Given the description of an element on the screen output the (x, y) to click on. 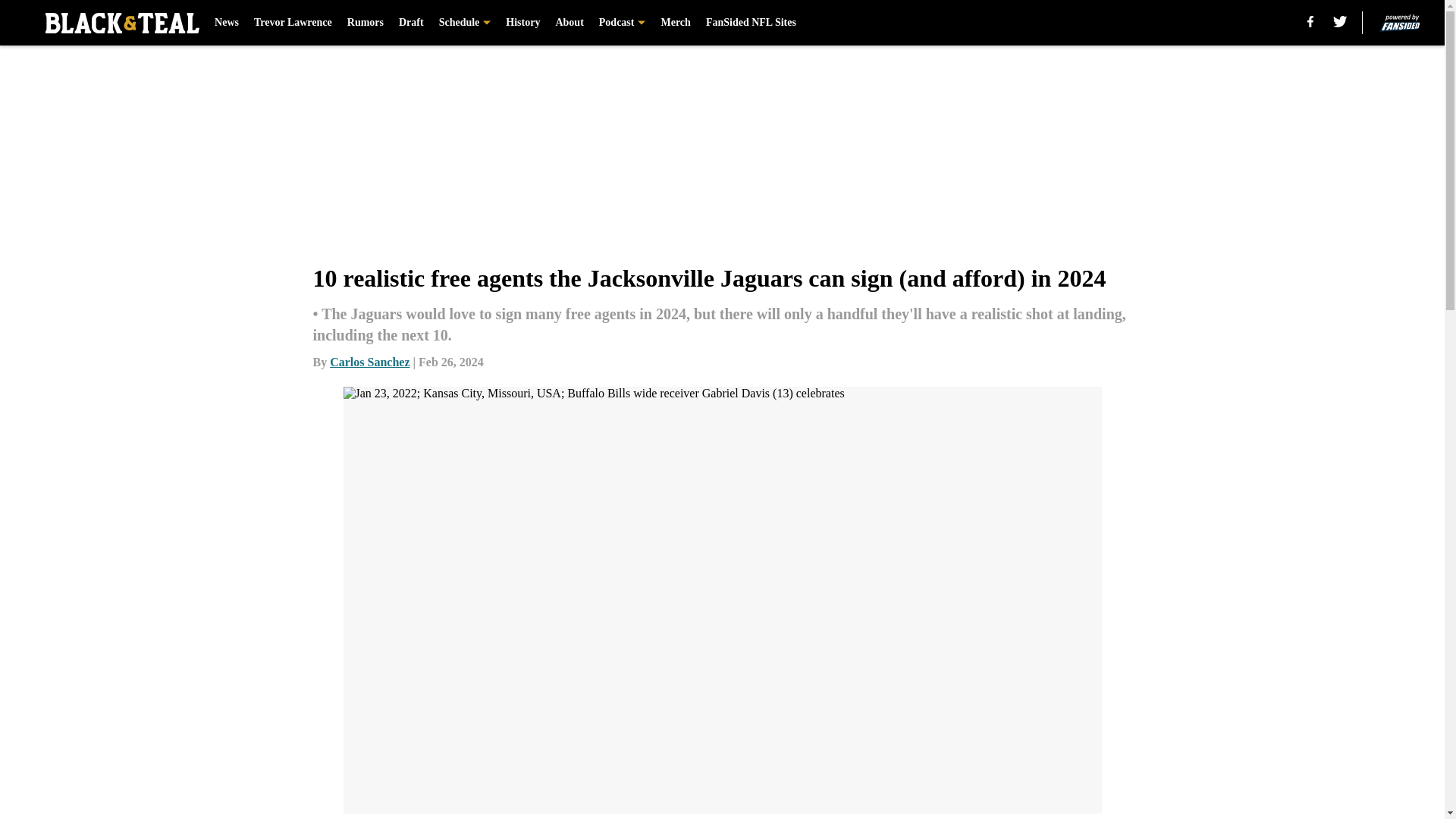
Rumors (365, 22)
Merch (675, 22)
Draft (410, 22)
Trevor Lawrence (292, 22)
FanSided NFL Sites (751, 22)
Carlos Sanchez (369, 361)
About (568, 22)
History (522, 22)
News (226, 22)
